Given the description of an element on the screen output the (x, y) to click on. 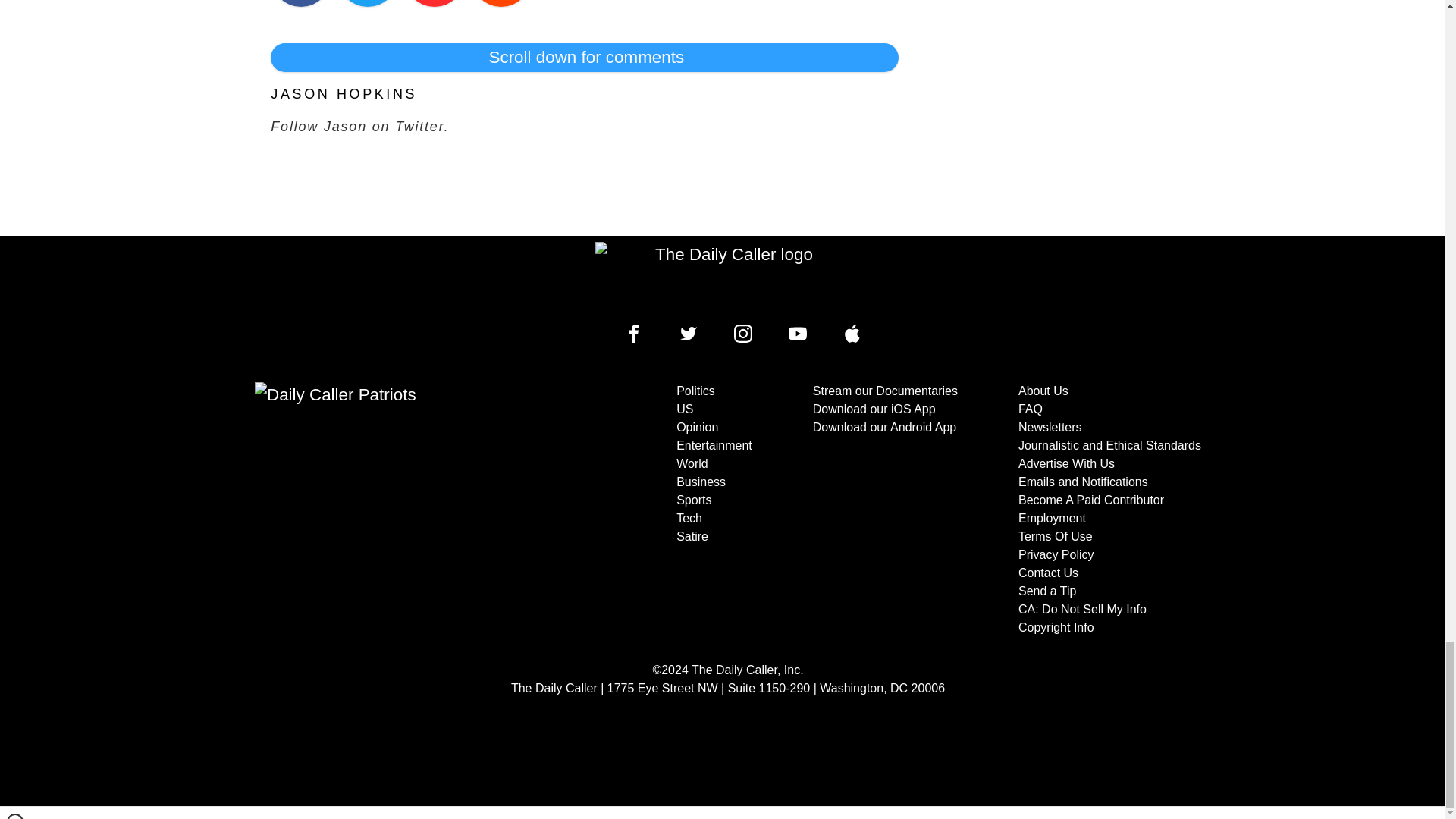
Daily Caller YouTube (797, 333)
Daily Caller Facebook (633, 333)
Subscribe to The Daily Caller (405, 509)
Daily Caller Twitter (688, 333)
To home page (727, 276)
Scroll down for comments (584, 57)
Daily Caller YouTube (852, 333)
Daily Caller Instagram (742, 333)
